Given the description of an element on the screen output the (x, y) to click on. 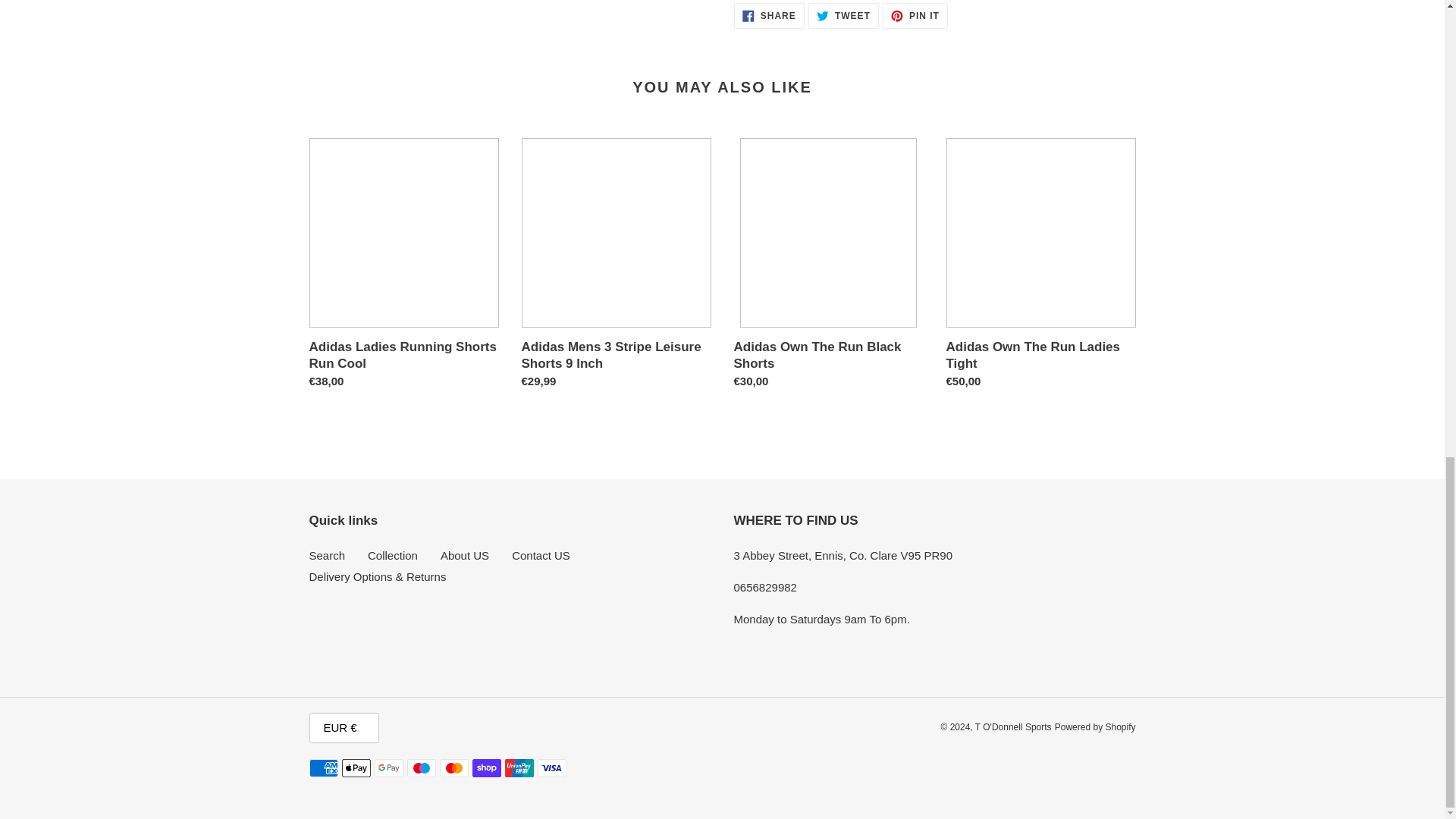
Search (914, 15)
Collection (327, 554)
About US (392, 554)
Contact US (465, 554)
